Given the description of an element on the screen output the (x, y) to click on. 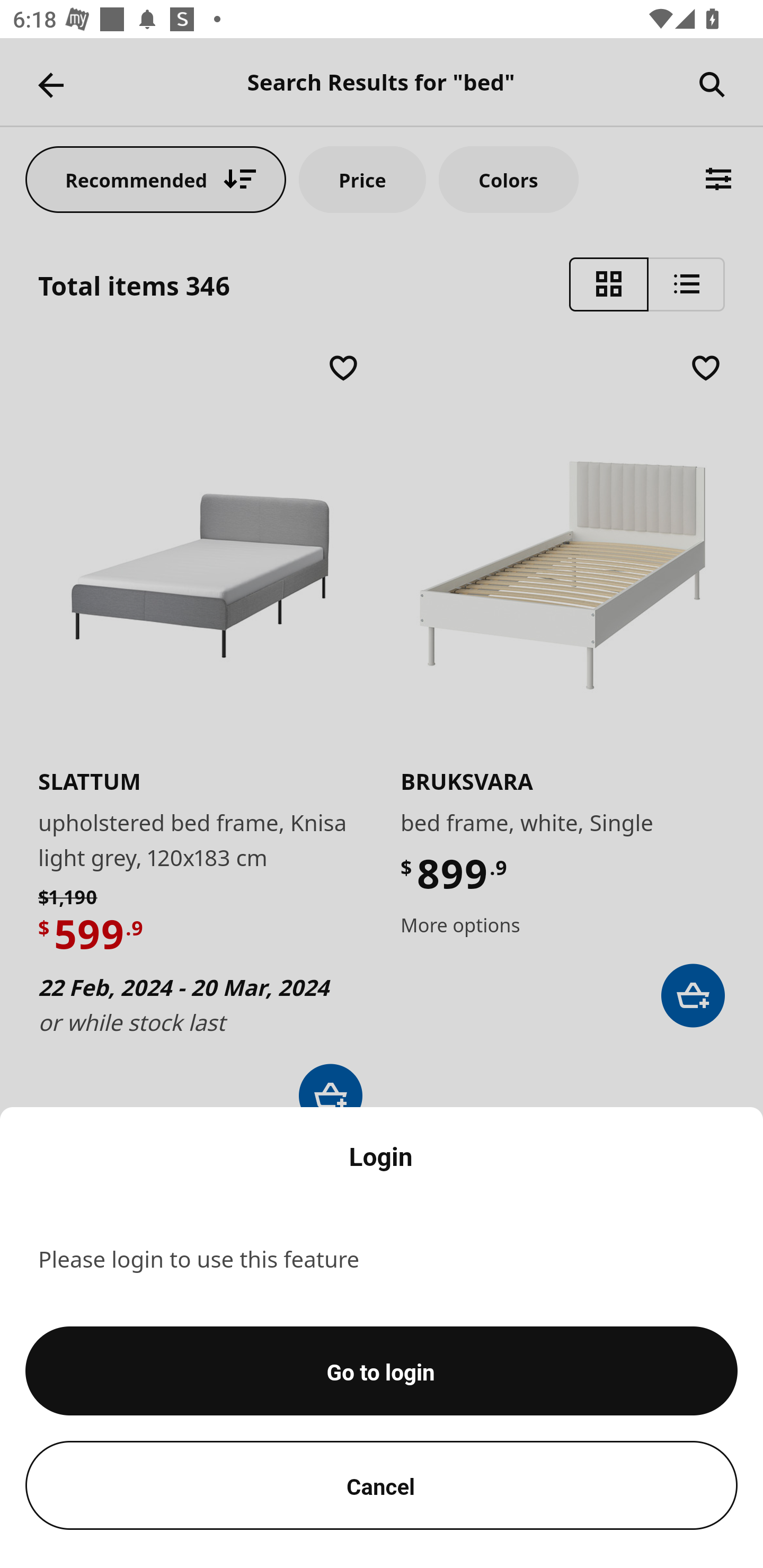
Go to login (381, 1370)
Cancel (381, 1485)
